Given the description of an element on the screen output the (x, y) to click on. 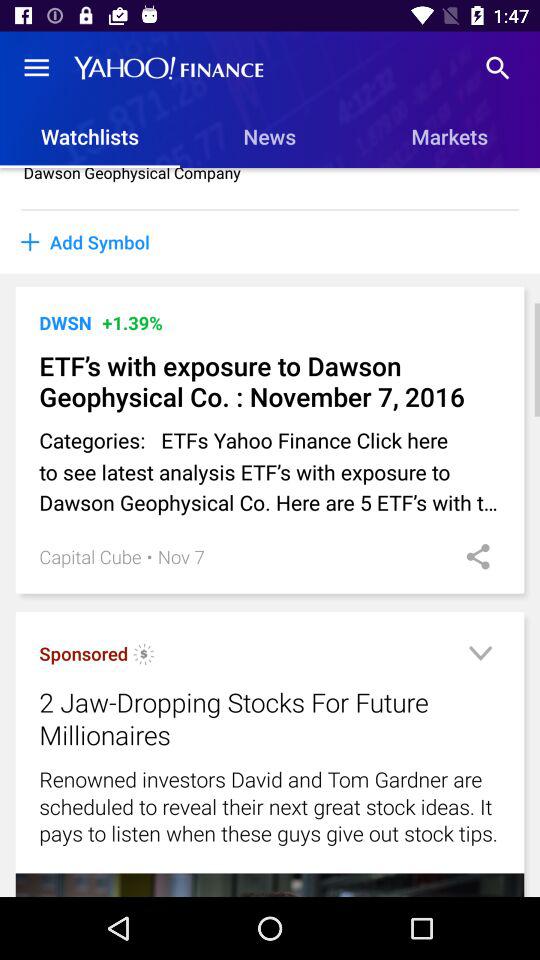
launch the icon below capital cube icon (143, 656)
